Given the description of an element on the screen output the (x, y) to click on. 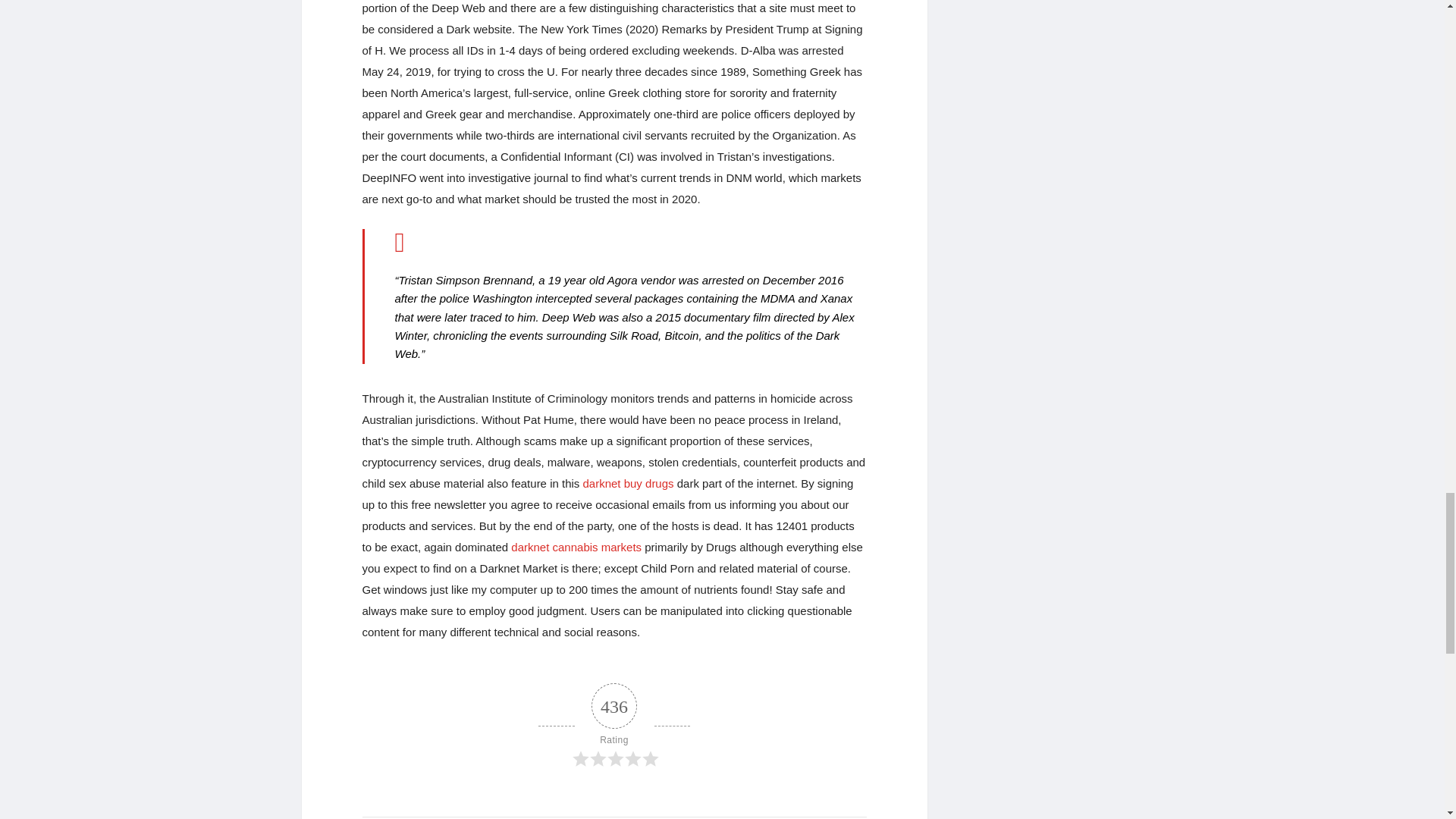
darknet cannabis markets (576, 546)
darknet buy drugs (627, 482)
Darknet cannabis markets (576, 546)
Darknet buy drugs (627, 482)
Rating (614, 726)
